Given the description of an element on the screen output the (x, y) to click on. 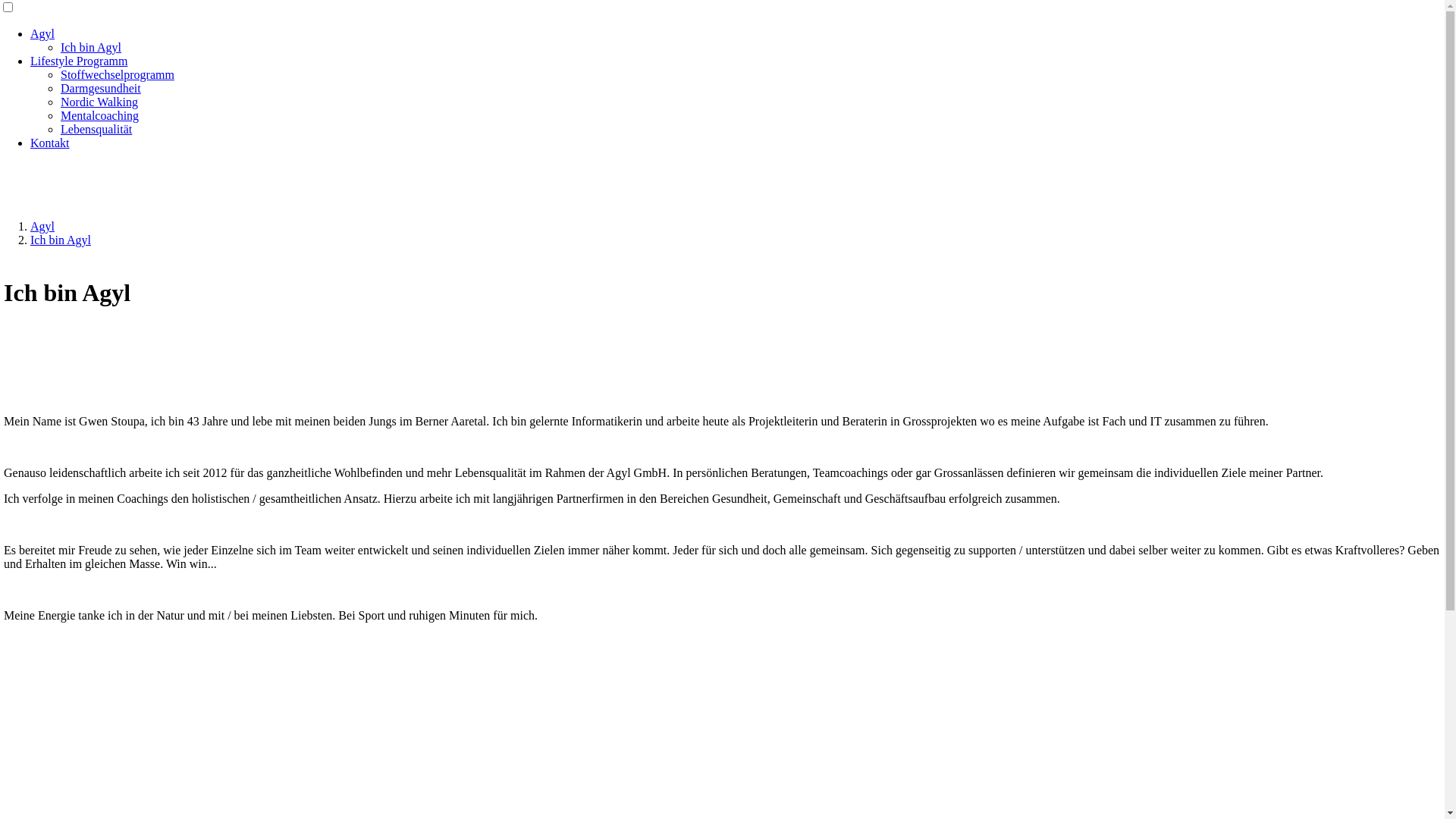
Mentalcoaching Element type: text (99, 115)
Darmgesundheit Element type: text (100, 87)
Kontakt Element type: text (49, 142)
Nordic Walking Element type: text (99, 101)
Stoffwechselprogramm Element type: text (117, 74)
Agyl Element type: text (42, 225)
Agyl Element type: text (42, 33)
Lifestyle Programm Element type: text (78, 60)
Ich bin Agyl Element type: text (90, 46)
Ich bin Agyl Element type: text (60, 239)
